Given the description of an element on the screen output the (x, y) to click on. 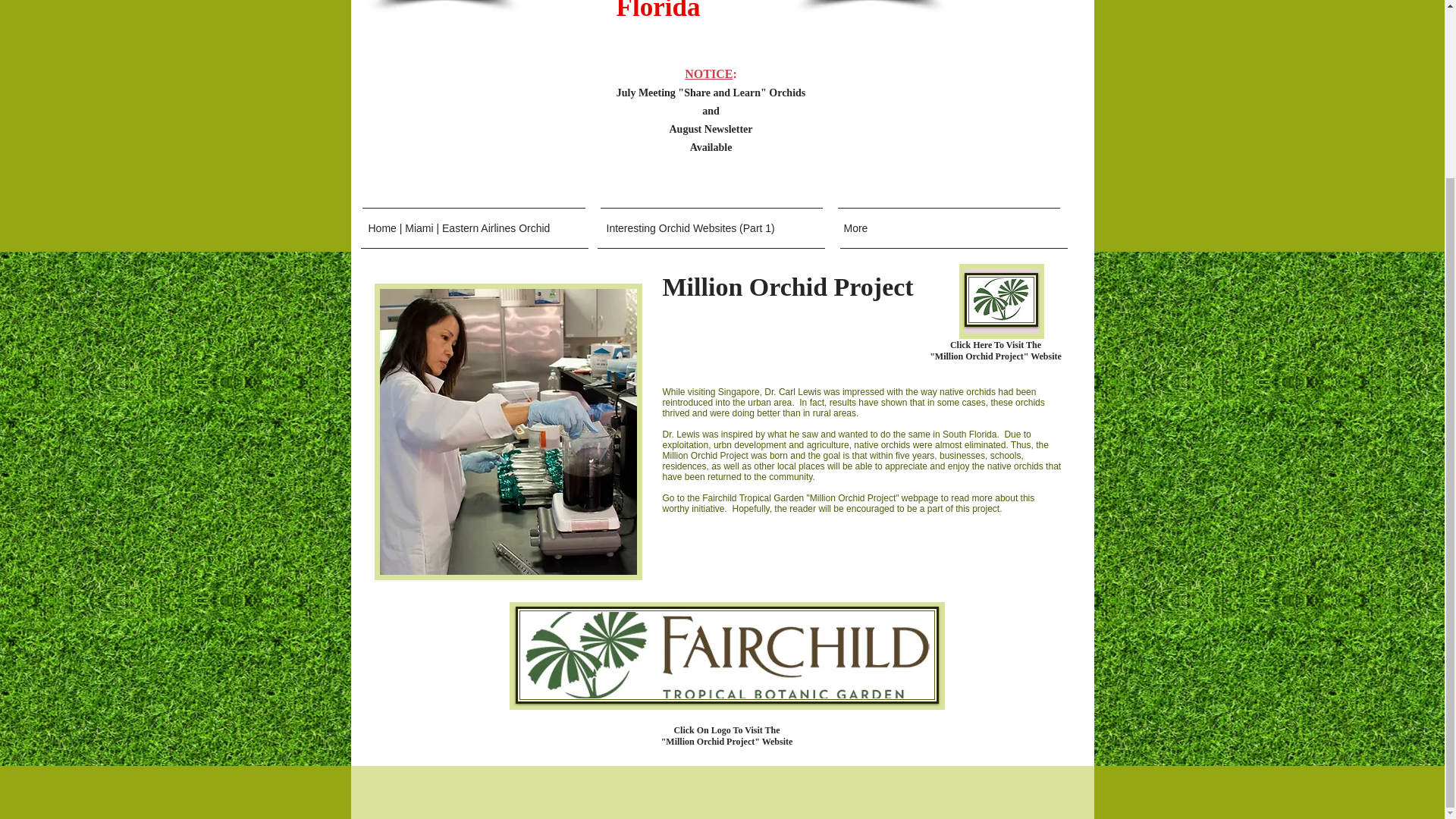
Fairchild Logo.png (1000, 299)
Million Orchid Project.jpg (508, 431)
